Given the description of an element on the screen output the (x, y) to click on. 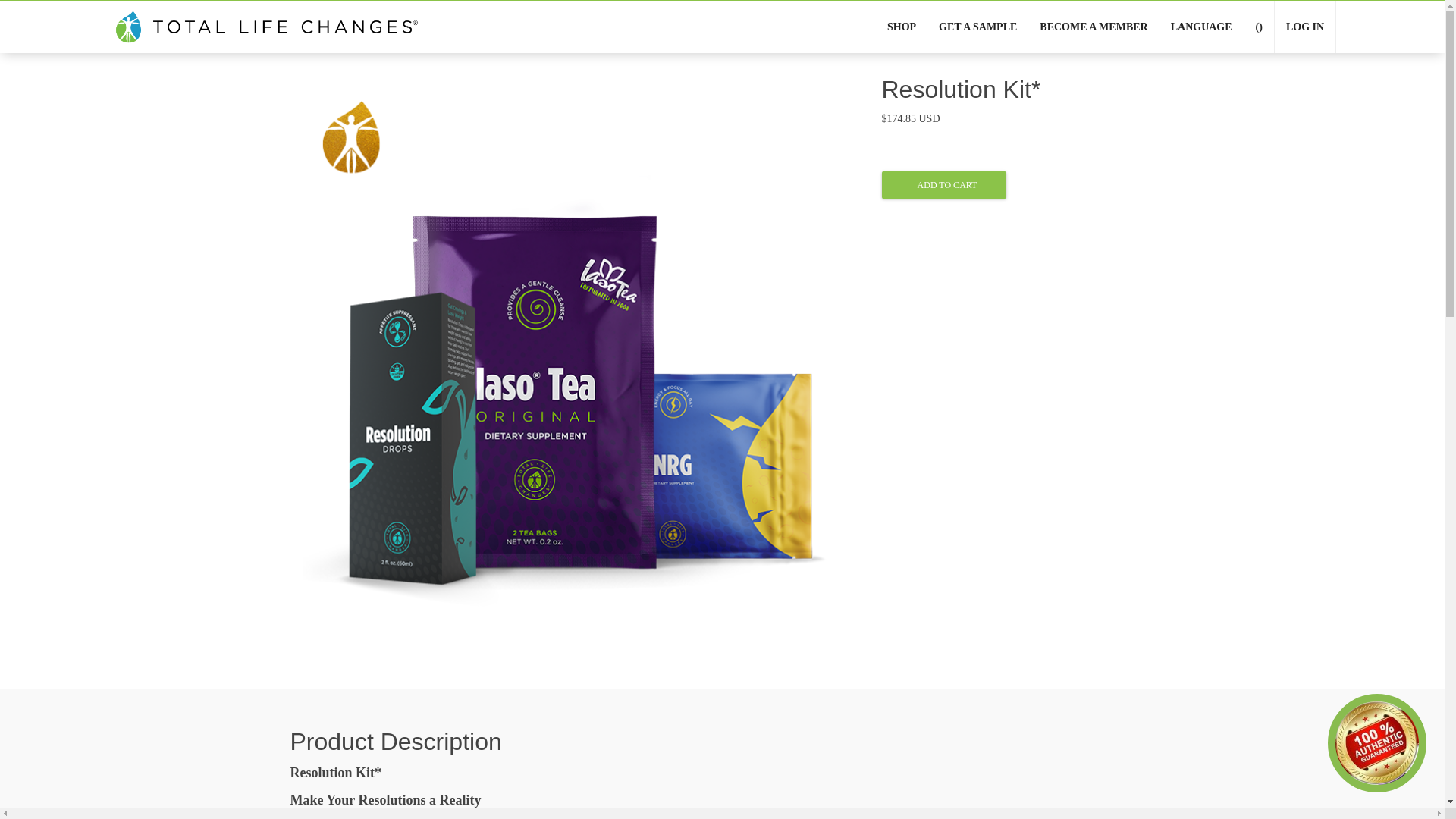
LOG IN (1305, 26)
SHOP (901, 26)
ADD TO CART (943, 185)
BECOME A MEMBER (1092, 26)
LANGUAGE (1200, 26)
GET A SAMPLE (977, 26)
Opens a widget where you can find more information (69, 781)
